Given the description of an element on the screen output the (x, y) to click on. 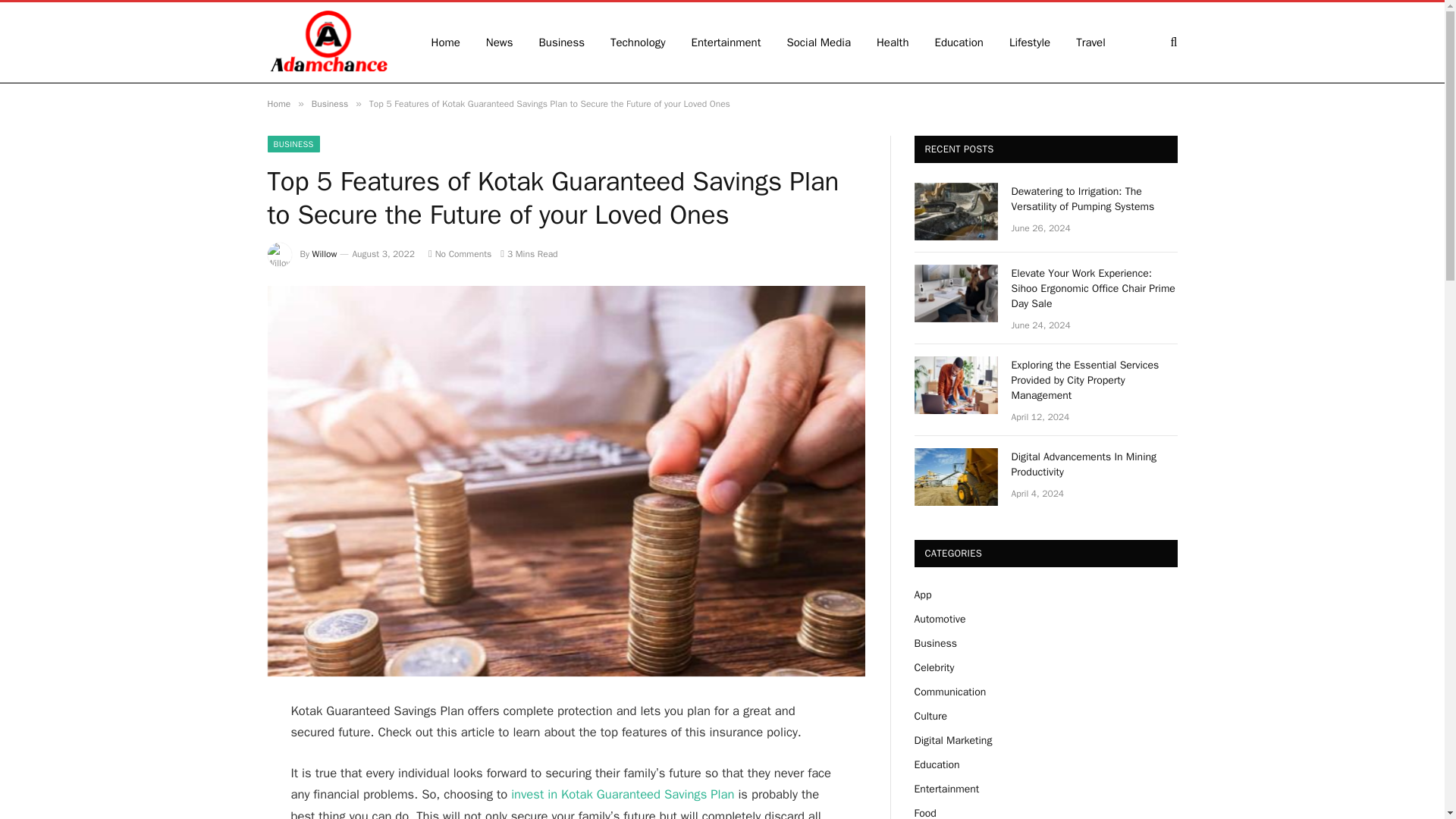
Posts by Willow (325, 254)
Dewatering to Irrigation: The Versatility of Pumping Systems (1094, 199)
Business (329, 103)
Willow (325, 254)
Business (561, 42)
invest in Kotak Guaranteed Savings Plan (622, 794)
App (922, 594)
